Given the description of an element on the screen output the (x, y) to click on. 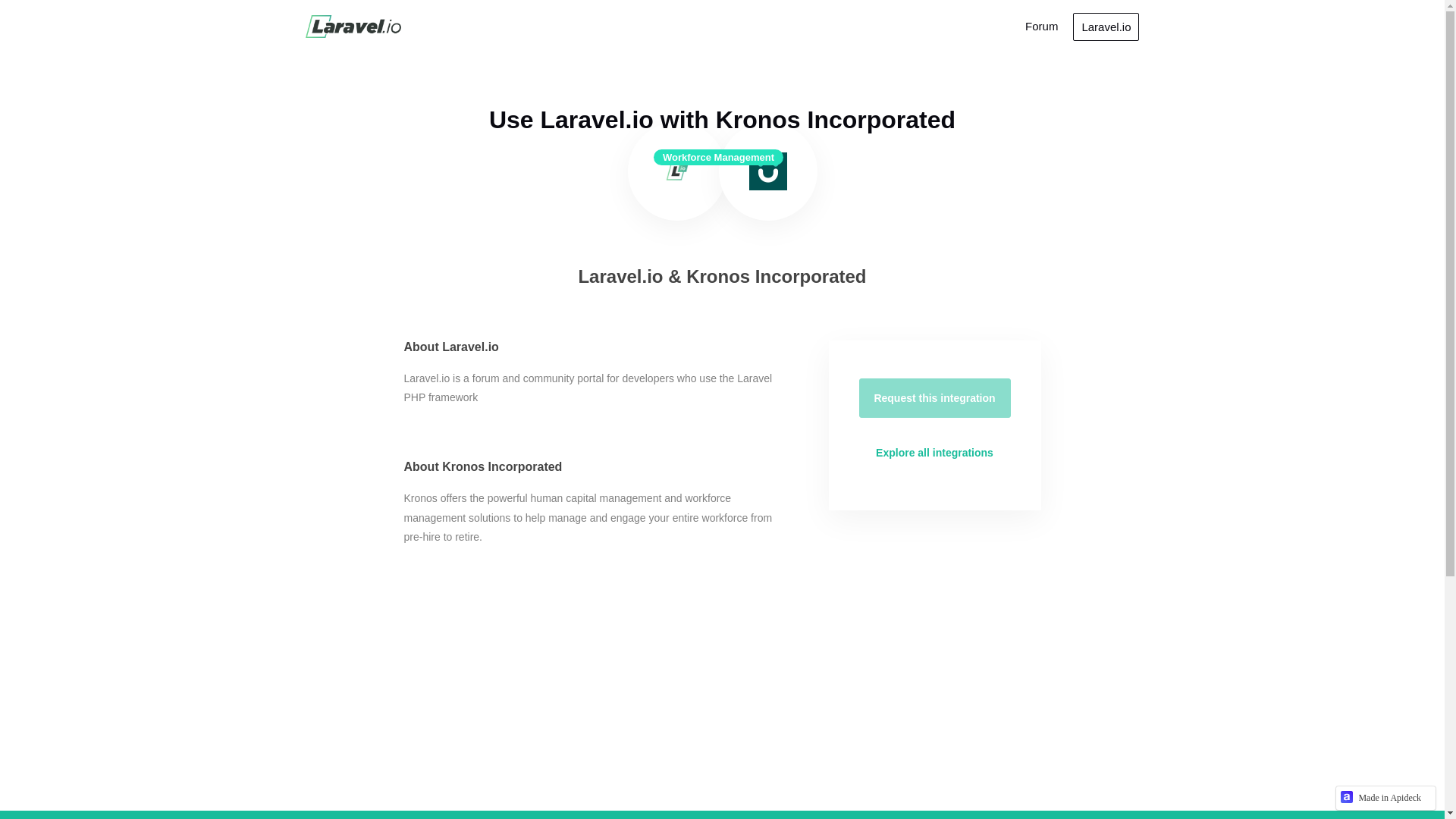
Request this integration (934, 397)
Laravel.io (352, 26)
Laravel.io (1105, 26)
Explore all integrations (934, 452)
Kronos Incorporated (768, 171)
Forum (1041, 25)
Laravel.io (676, 171)
